Given the description of an element on the screen output the (x, y) to click on. 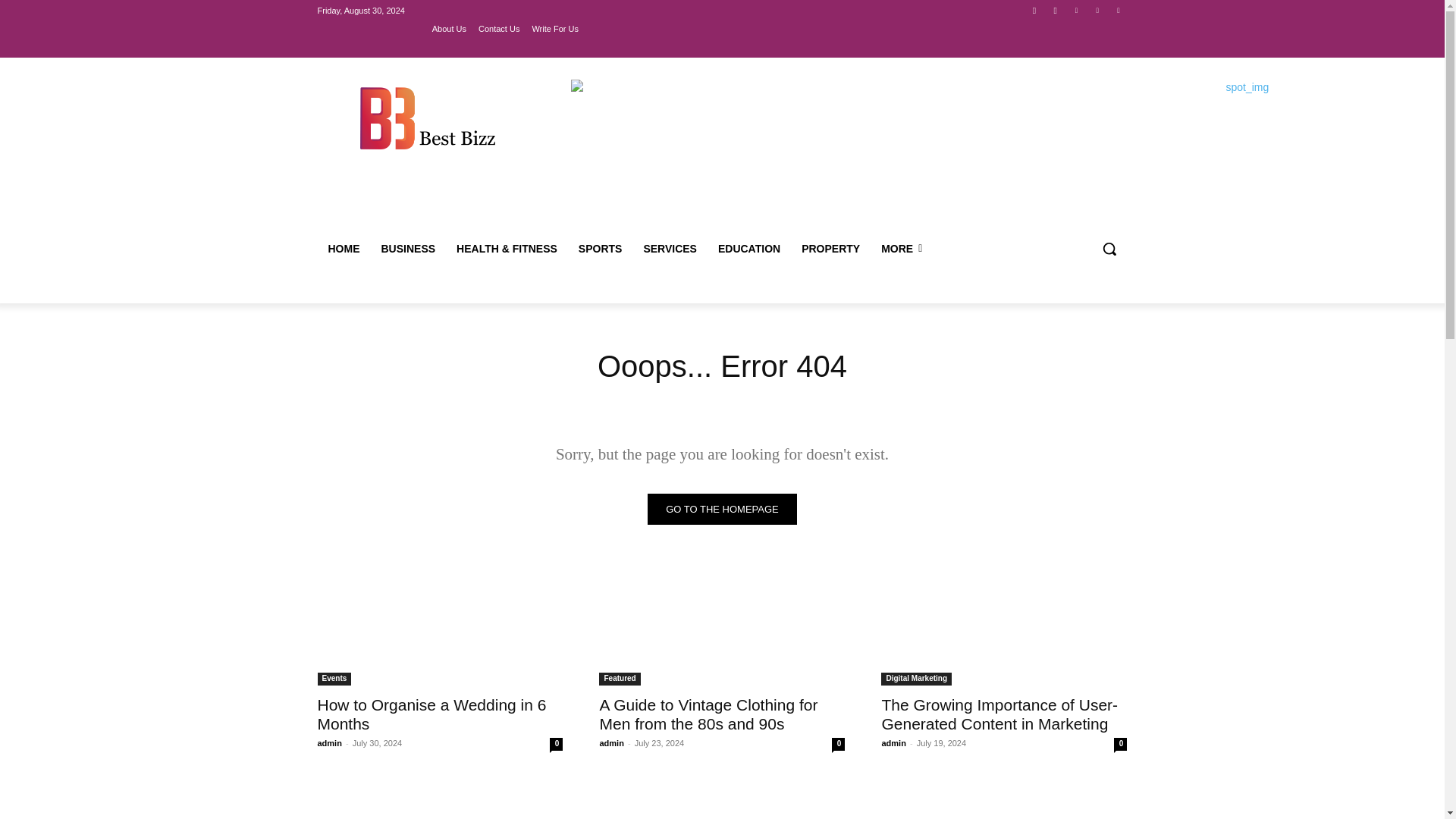
About Us (448, 28)
Linkedin (1075, 9)
Pinterest (1097, 9)
A Guide to Vintage Clothing for Men from the 80s and 90s (707, 714)
Write For Us (554, 28)
How to Organise a Wedding in 6 Months (431, 714)
Instagram (1055, 9)
A Guide to Vintage Clothing for Men from the 80s and 90s (721, 623)
Facebook (1034, 9)
